Given the description of an element on the screen output the (x, y) to click on. 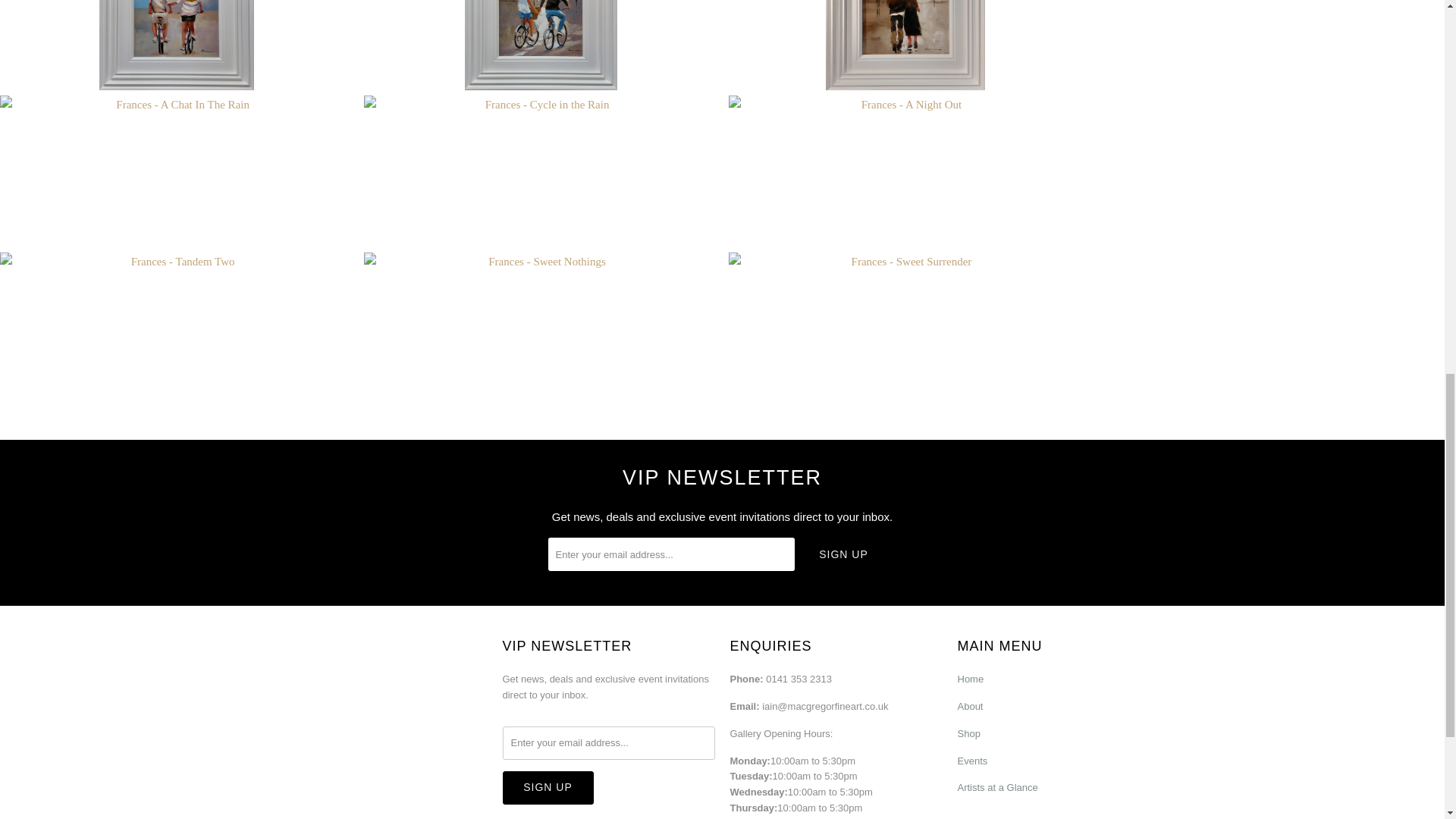
Sign Up (547, 787)
Sign Up (842, 553)
